Given the description of an element on the screen output the (x, y) to click on. 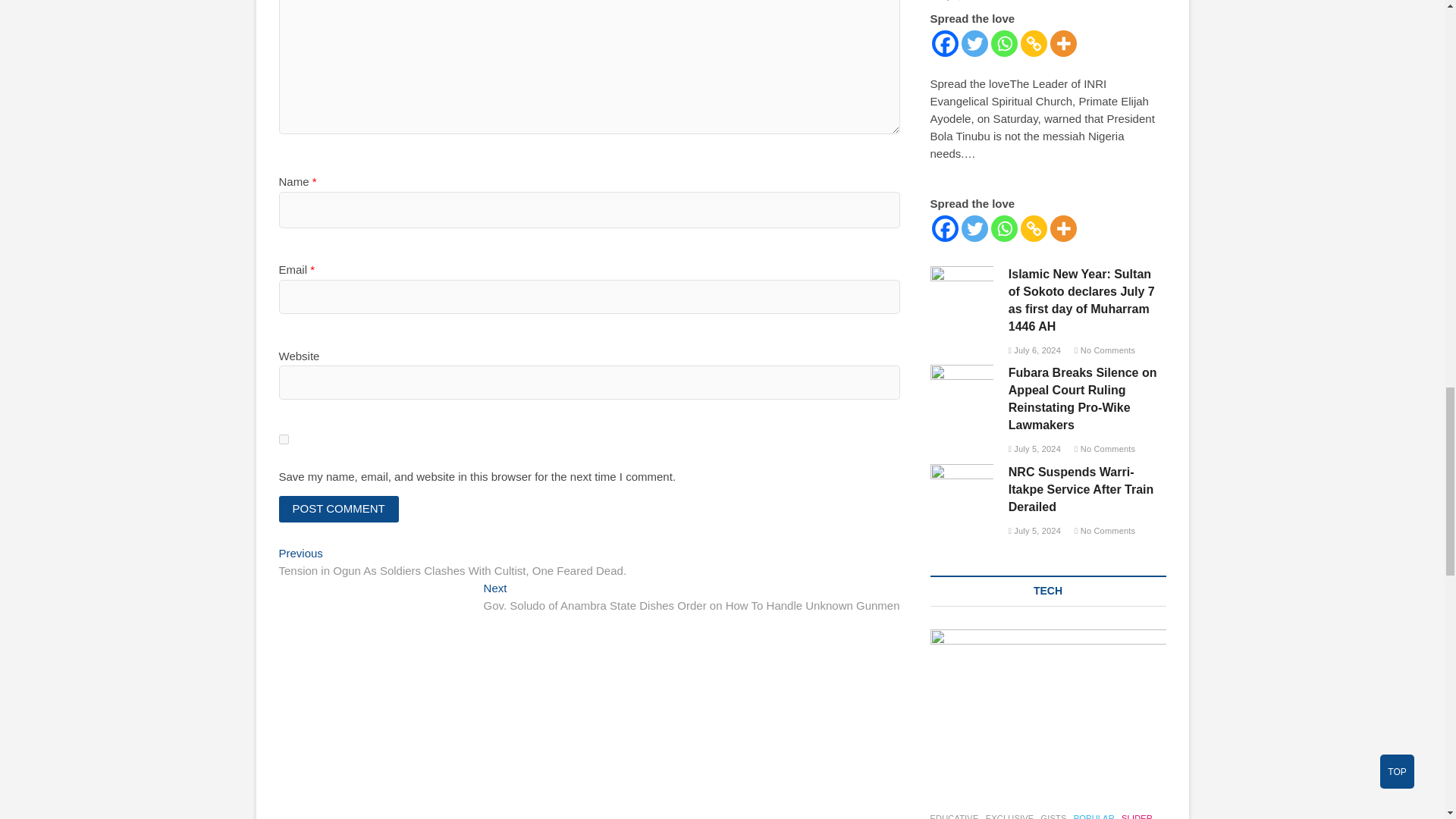
Post Comment (338, 509)
yes (283, 439)
